Given the description of an element on the screen output the (x, y) to click on. 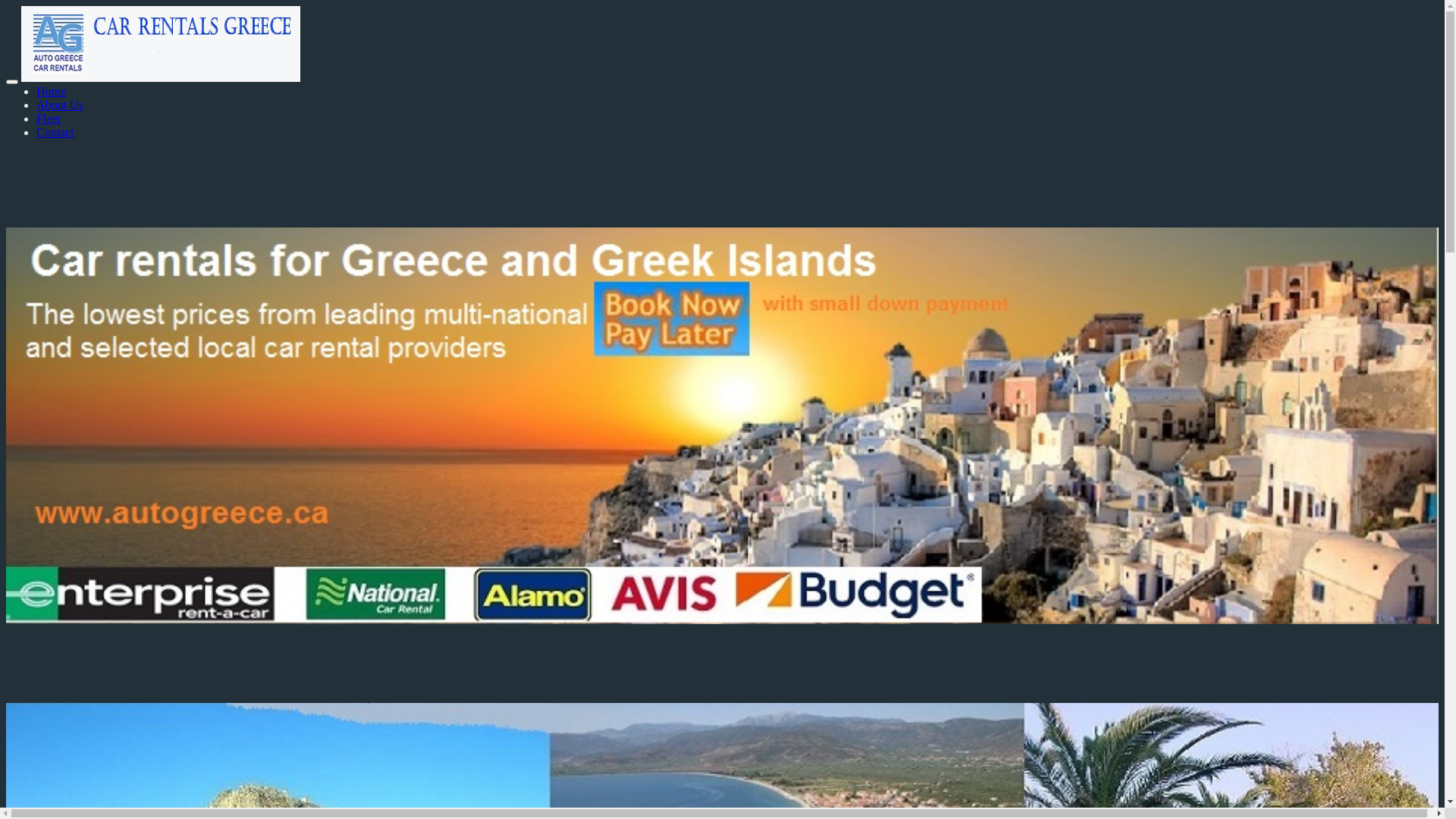
About Us Element type: text (59, 104)
Contact Element type: text (55, 131)
Home Element type: text (50, 90)
Fleet Element type: text (48, 118)
